Given the description of an element on the screen output the (x, y) to click on. 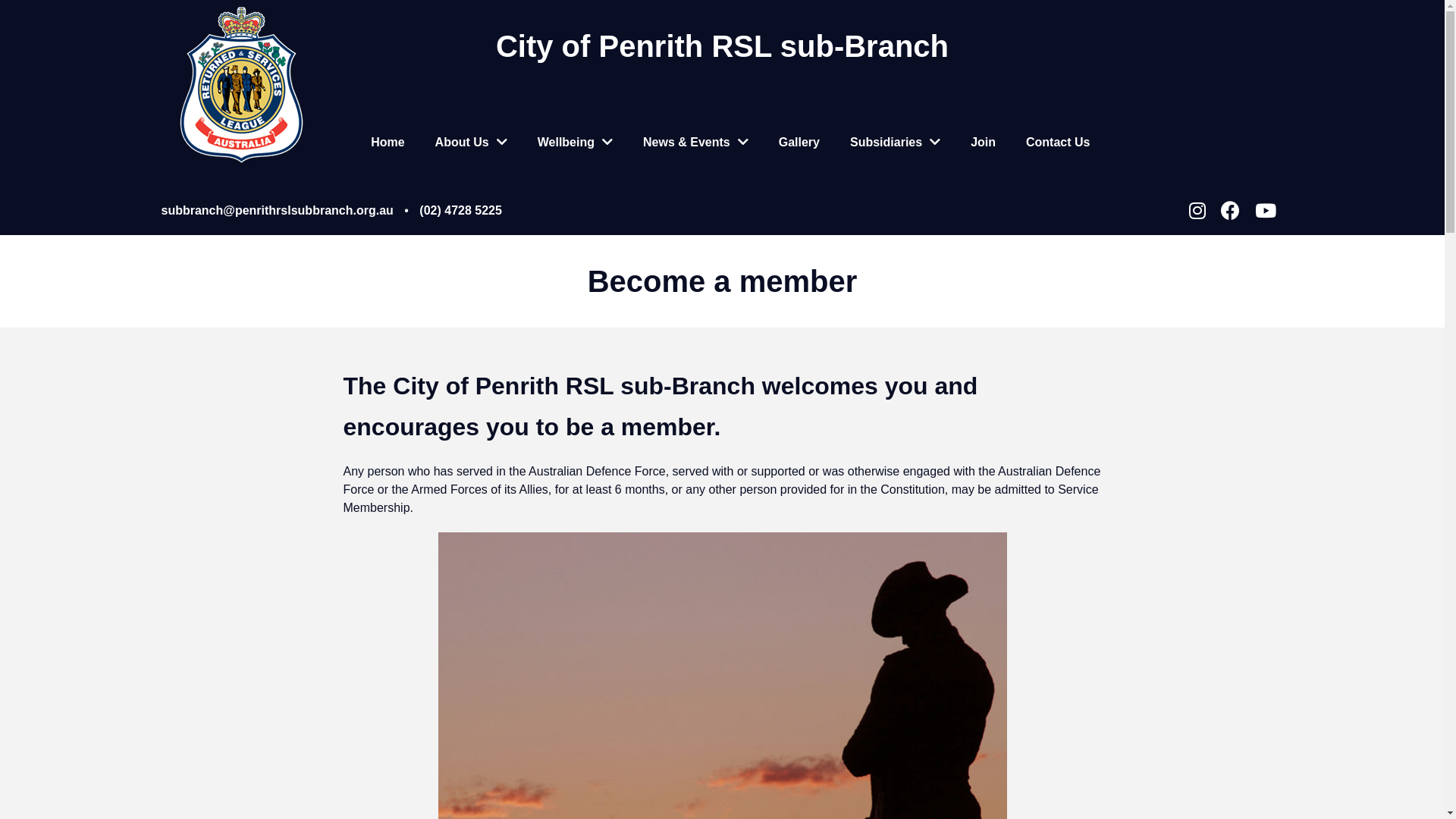
Join Element type: text (982, 142)
About Us Element type: text (471, 142)
Home Element type: text (387, 142)
News & Events Element type: text (695, 142)
Wellbeing Element type: text (574, 142)
subbranch@penrithrslsubbranch.org.au Element type: text (276, 209)
(02) 4728 5225 Element type: text (460, 209)
Gallery Element type: text (798, 142)
Contact Us Element type: text (1057, 142)
Subsidiaries Element type: text (894, 142)
